Given the description of an element on the screen output the (x, y) to click on. 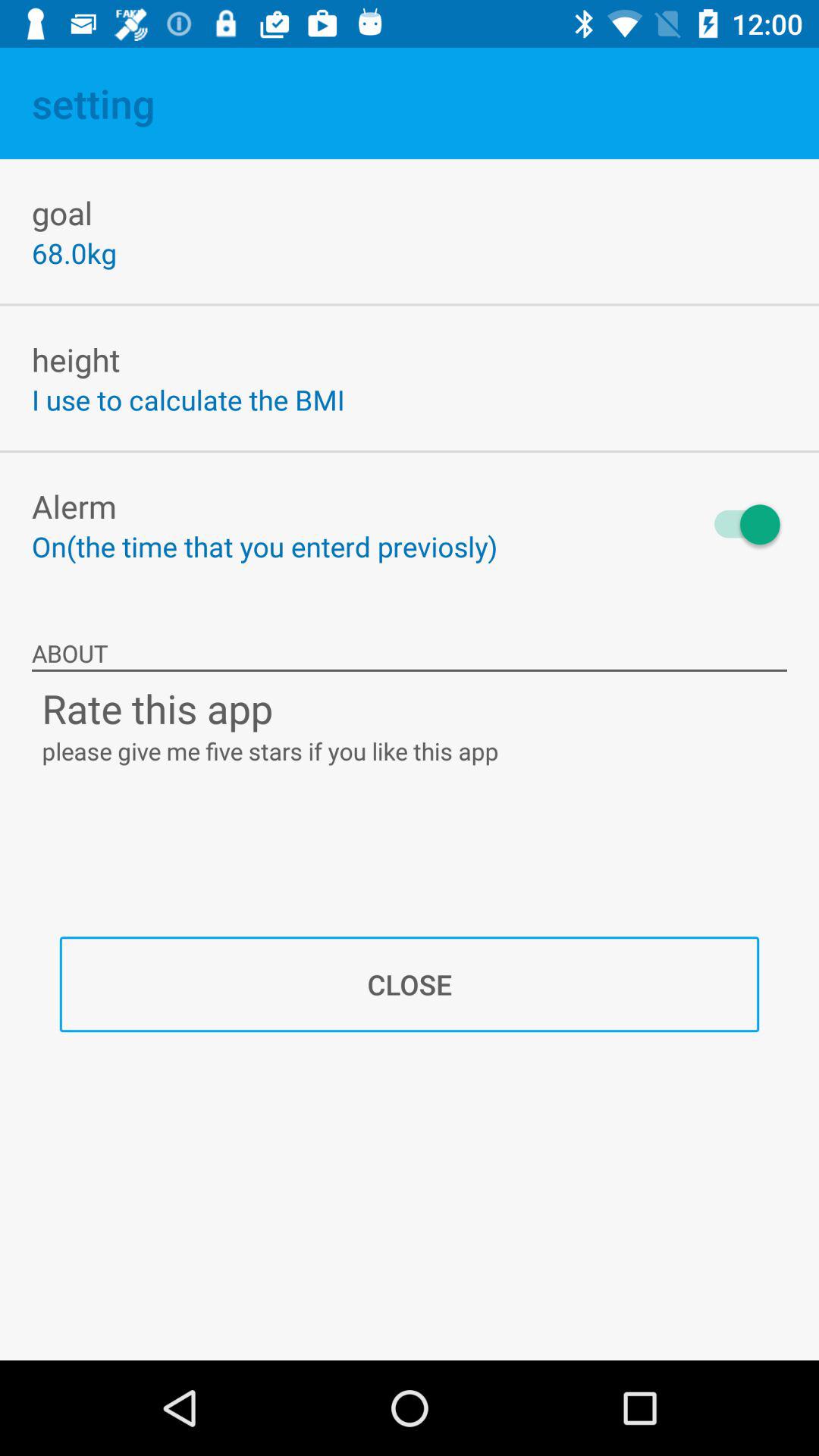
swipe to the 68.0kg icon (73, 252)
